Given the description of an element on the screen output the (x, y) to click on. 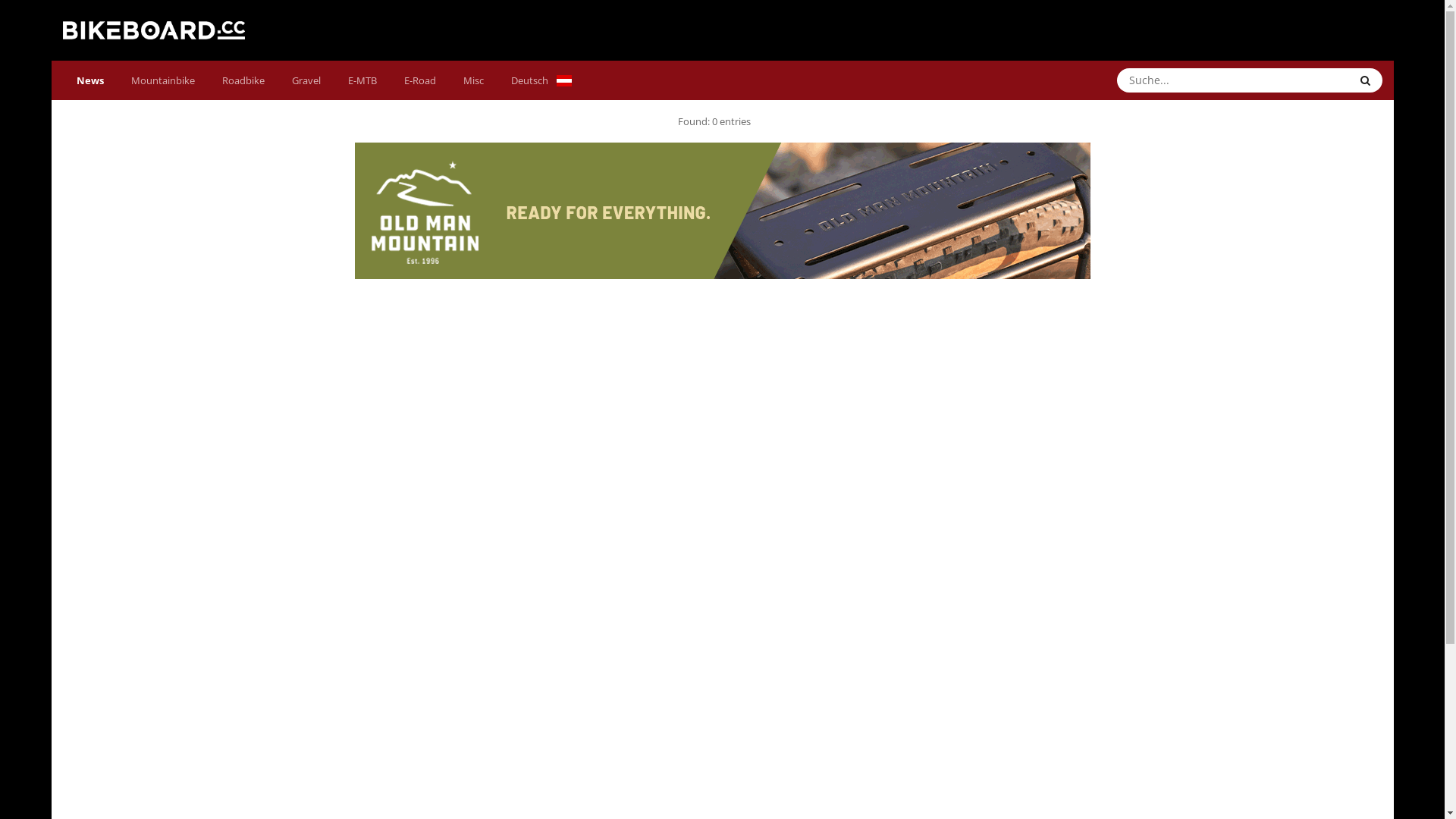
Roadbike Element type: text (242, 80)
Misc Element type: text (472, 80)
Gravel Element type: text (305, 80)
E-Road Element type: text (418, 80)
E-MTB Element type: text (361, 80)
Mountainbike Element type: text (161, 80)
News Element type: text (89, 80)
Deutsch Element type: text (541, 80)
